Given the description of an element on the screen output the (x, y) to click on. 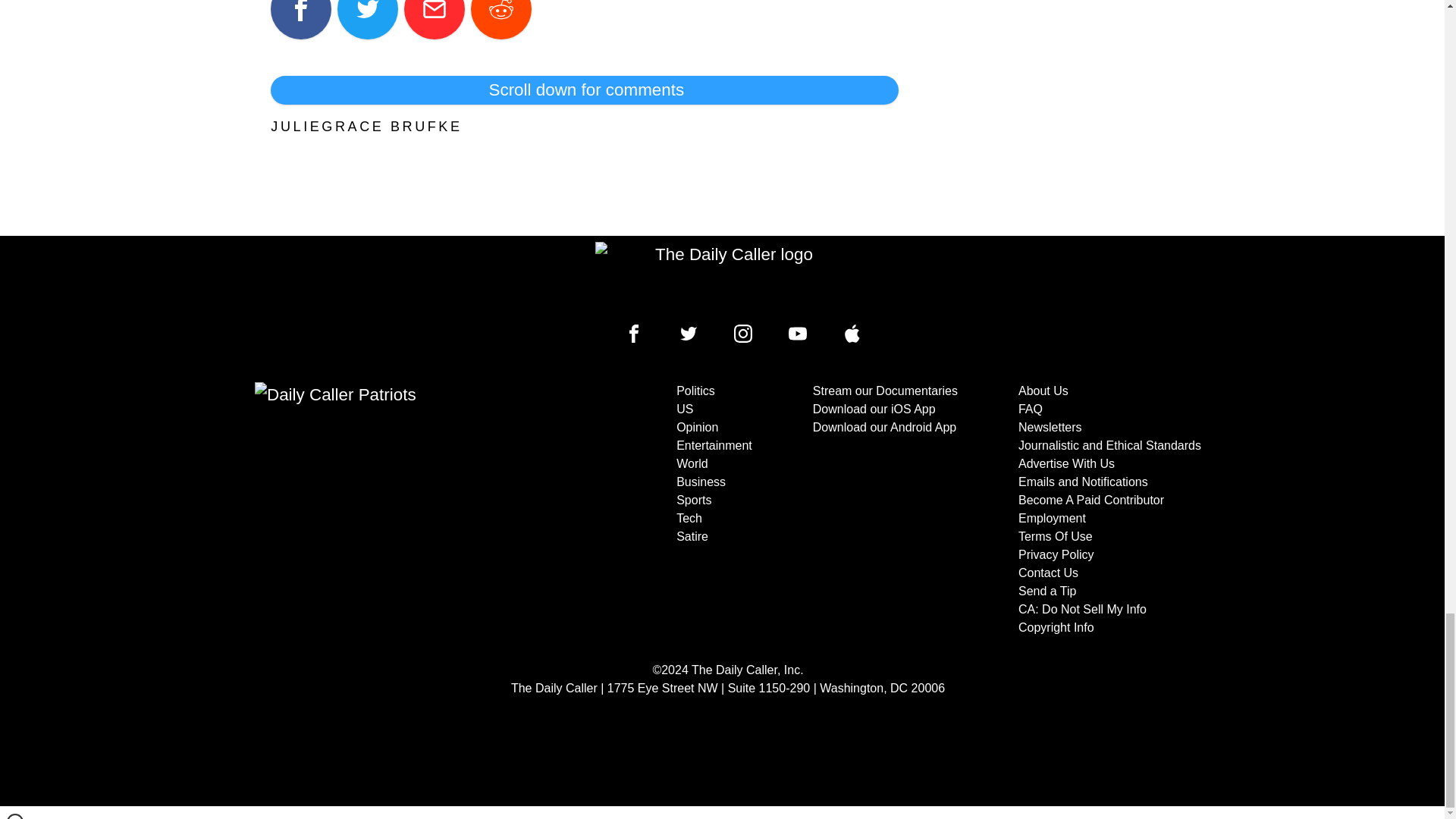
Daily Caller YouTube (852, 333)
Subscribe to The Daily Caller (405, 509)
Daily Caller Instagram (742, 333)
Daily Caller Twitter (688, 333)
Daily Caller YouTube (797, 333)
Scroll down for comments (584, 90)
Daily Caller Facebook (633, 333)
To home page (727, 276)
